Given the description of an element on the screen output the (x, y) to click on. 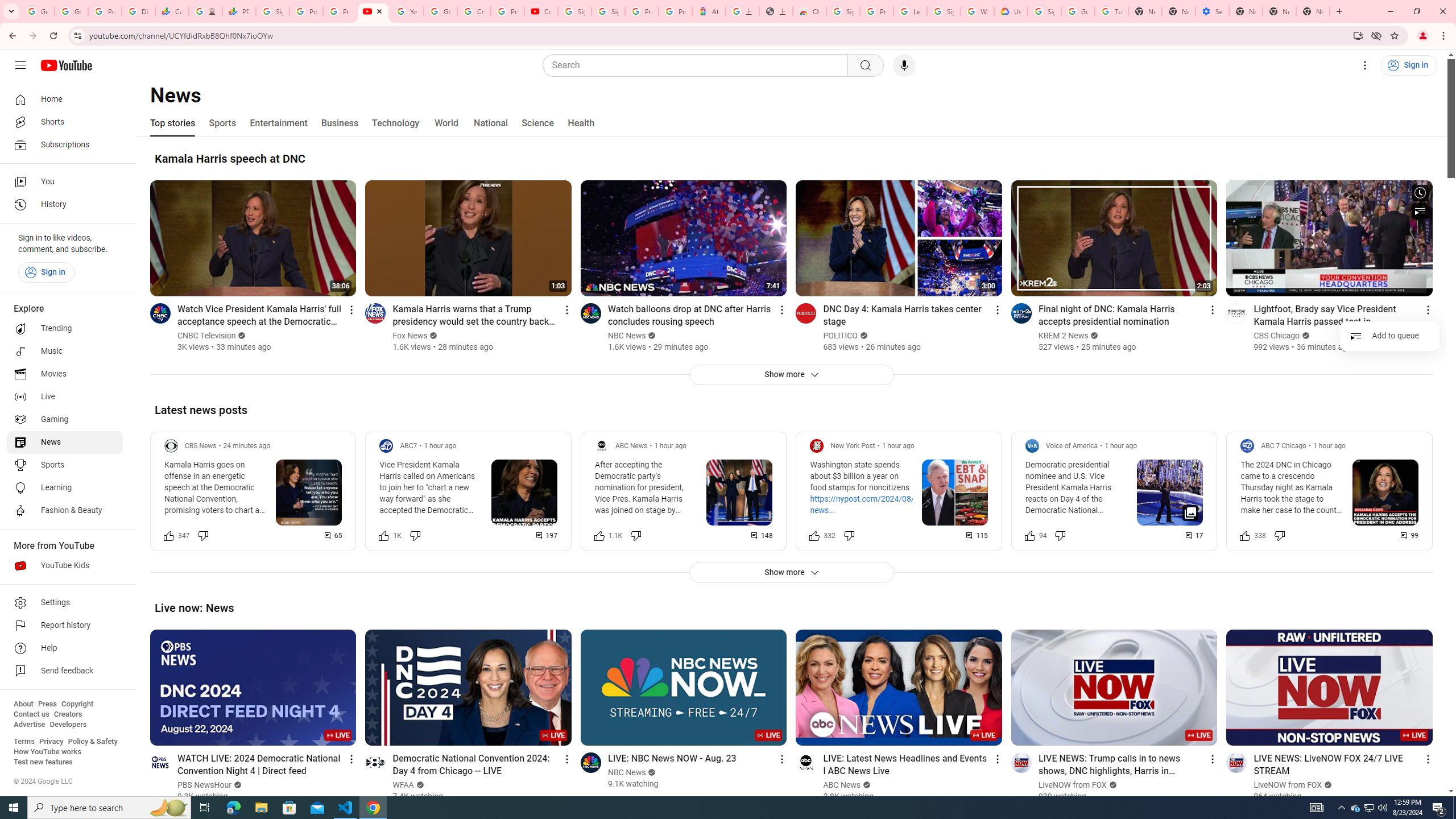
KREM 2 News (1063, 335)
New York Post (852, 445)
LiveNOW from FOX (1288, 784)
New Tab (1246, 11)
Like this post along with 1,018 other people (383, 534)
Movies (64, 373)
YouTube (406, 11)
Content Creator Programs & Opportunities - YouTube Creators (541, 11)
YouTube Kids (64, 565)
Sign in - Google Accounts (574, 11)
